Given the description of an element on the screen output the (x, y) to click on. 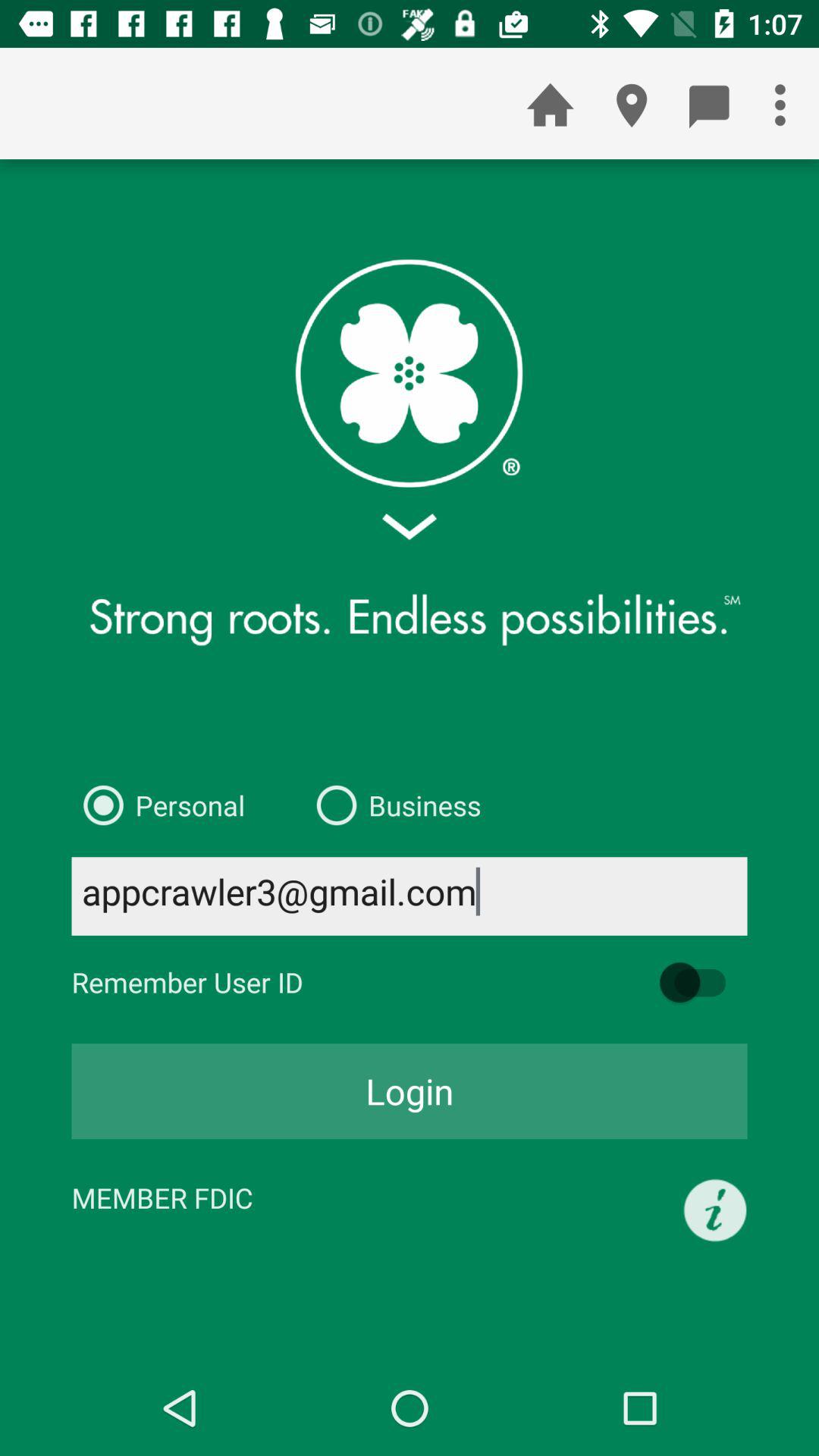
select the item next to the remember user id (699, 982)
